Given the description of an element on the screen output the (x, y) to click on. 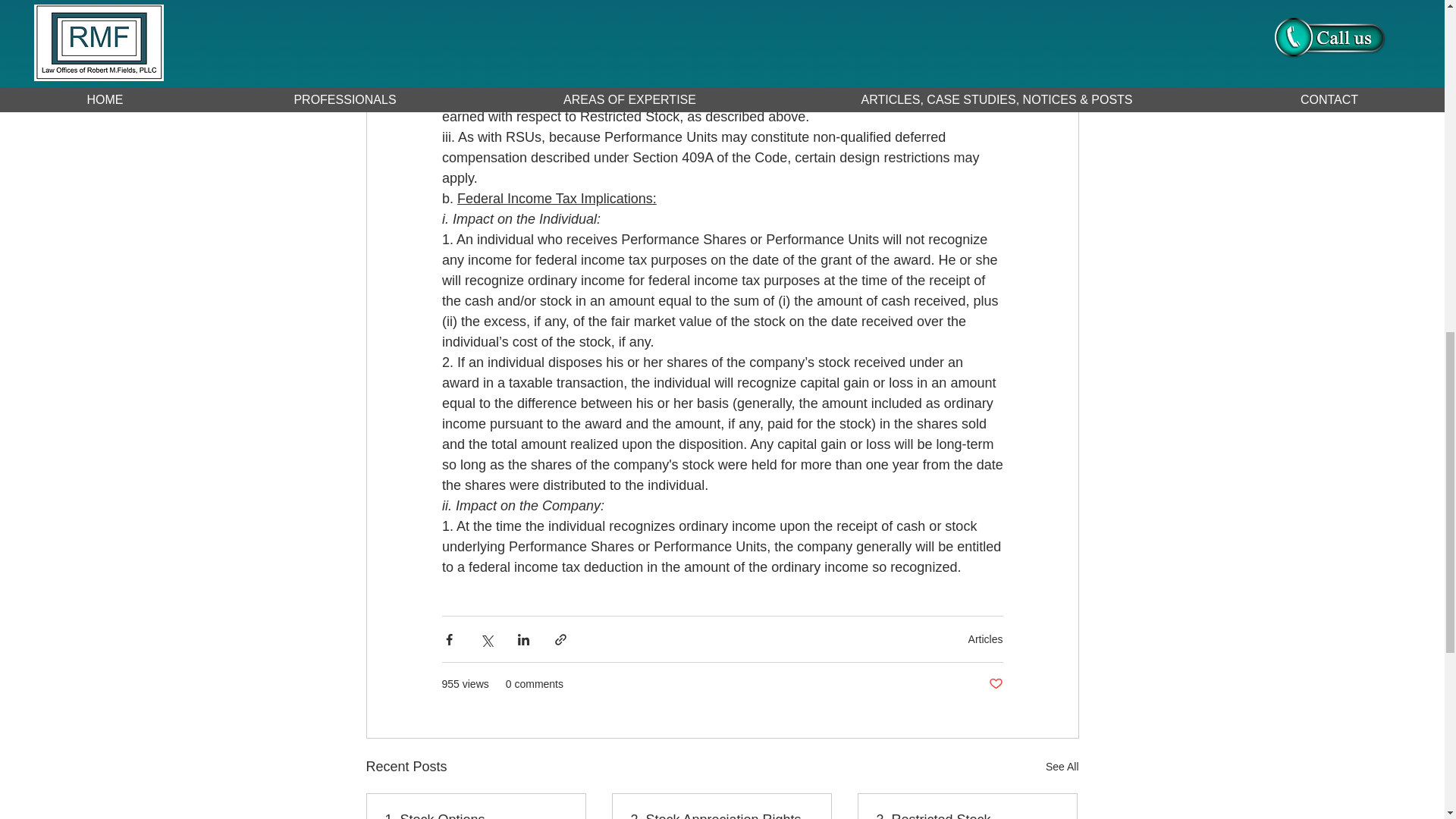
Articles (985, 638)
See All (1061, 766)
3. Restricted Stock (967, 815)
2. Stock Appreciation Rights (721, 815)
1. Stock Options (476, 815)
Post not marked as liked (995, 684)
